Given the description of an element on the screen output the (x, y) to click on. 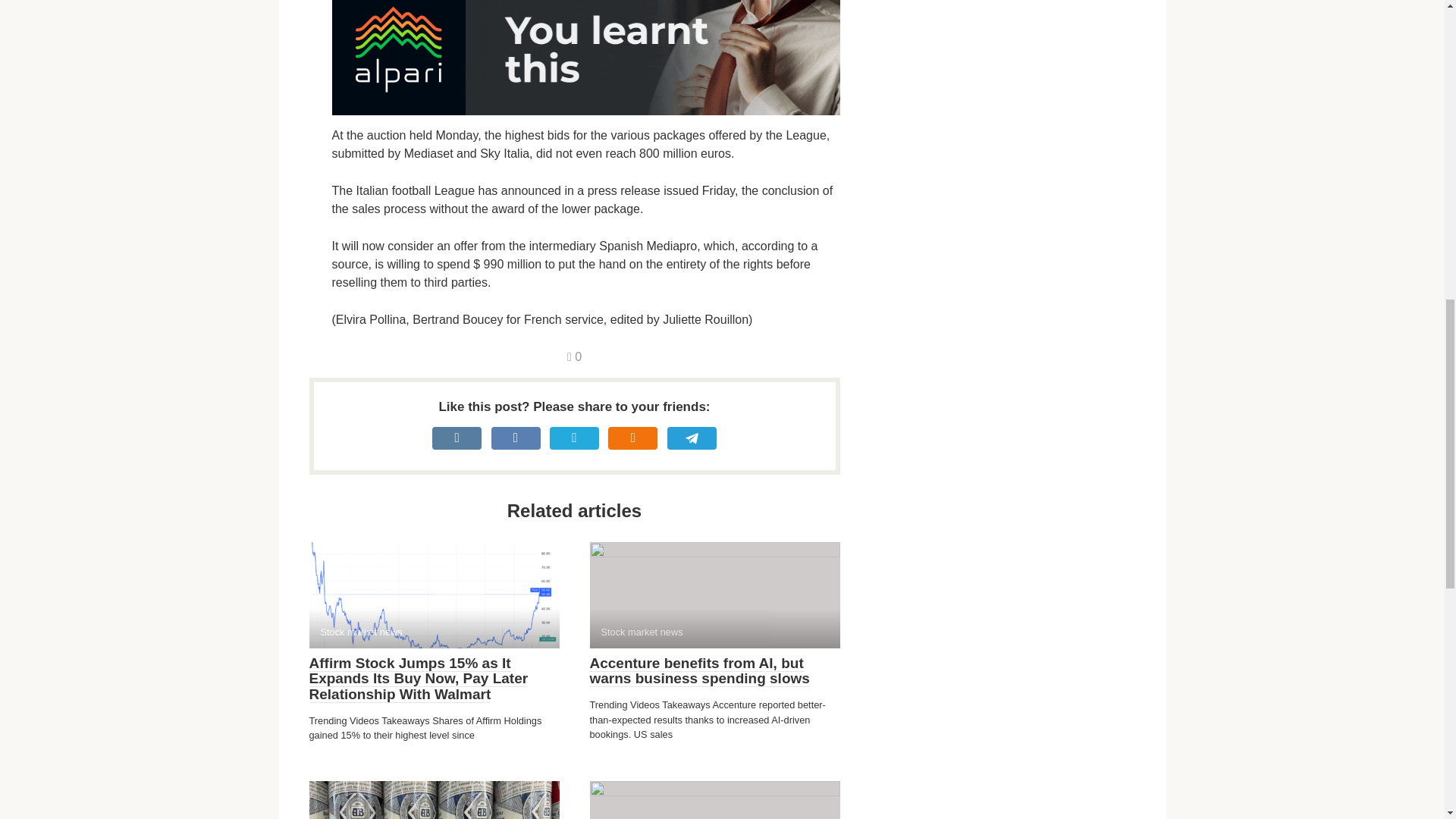
Stock market news (714, 595)
Stock market news (433, 800)
Comments (573, 356)
Stock market news (433, 595)
Stock market news (714, 800)
